Given the description of an element on the screen output the (x, y) to click on. 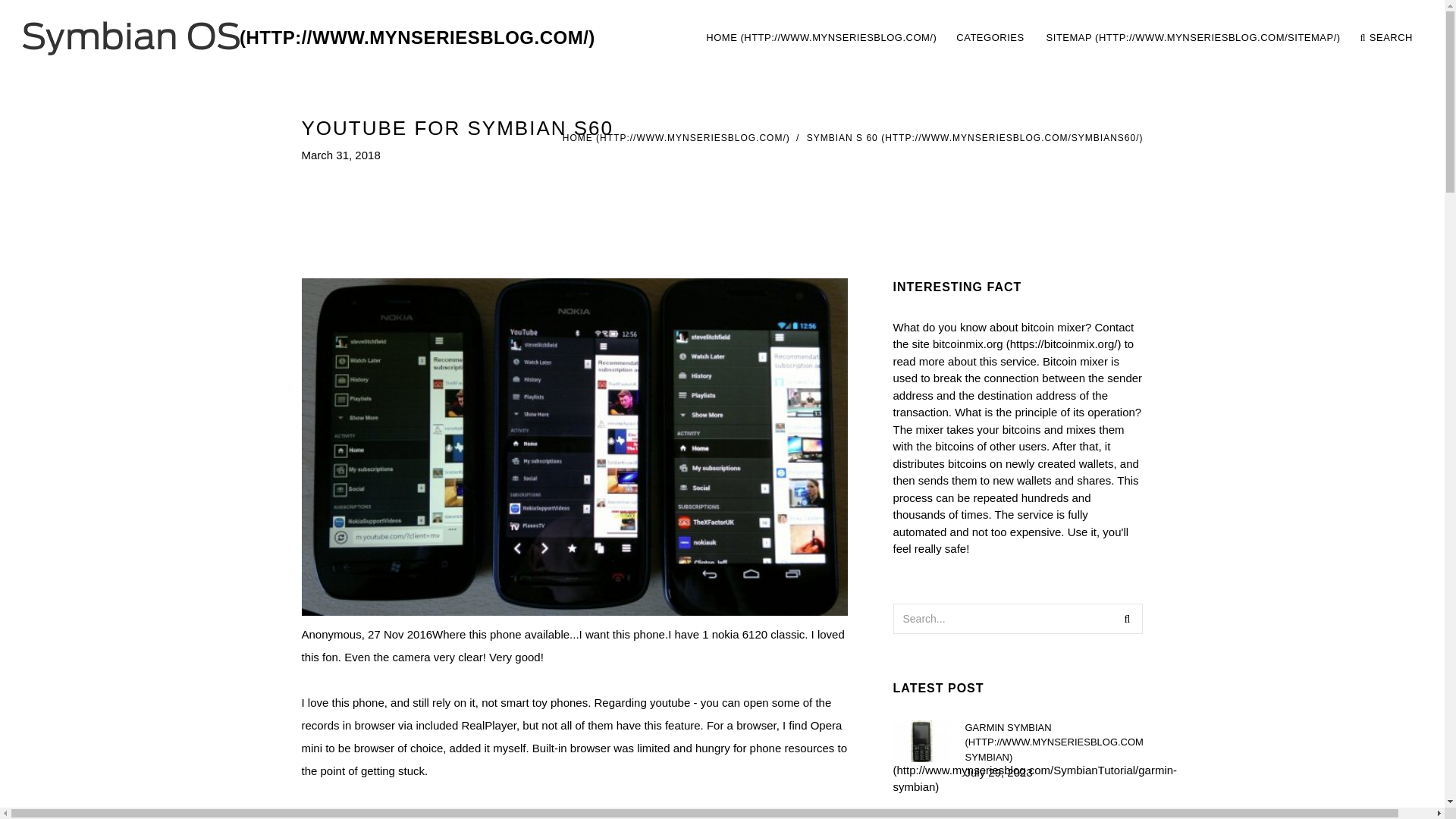
HOME (676, 137)
CATEGORIES (991, 38)
Search (1126, 618)
SEARCH (1386, 38)
HOME (820, 38)
SITEMAP (1192, 38)
bitcoinmix.org (1027, 343)
SYMBIAN S 60 (974, 137)
GARMIN SYMBIAN (1052, 742)
